Given the description of an element on the screen output the (x, y) to click on. 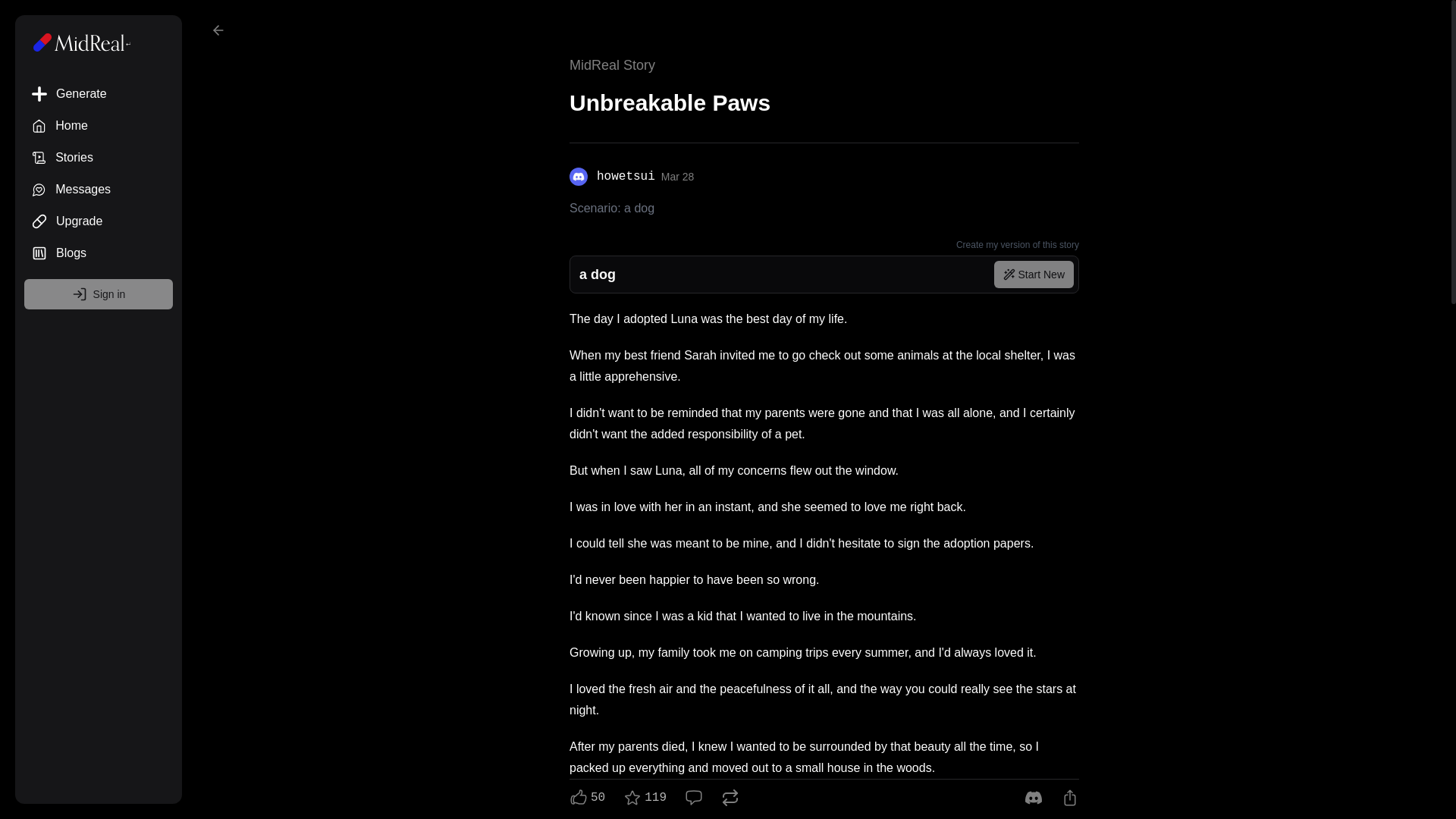
Blogs (98, 253)
Stories (98, 157)
Sign in (823, 176)
Upgrade (98, 294)
Home (98, 221)
Start New (98, 125)
Messages (1034, 274)
Generate (98, 189)
